Given the description of an element on the screen output the (x, y) to click on. 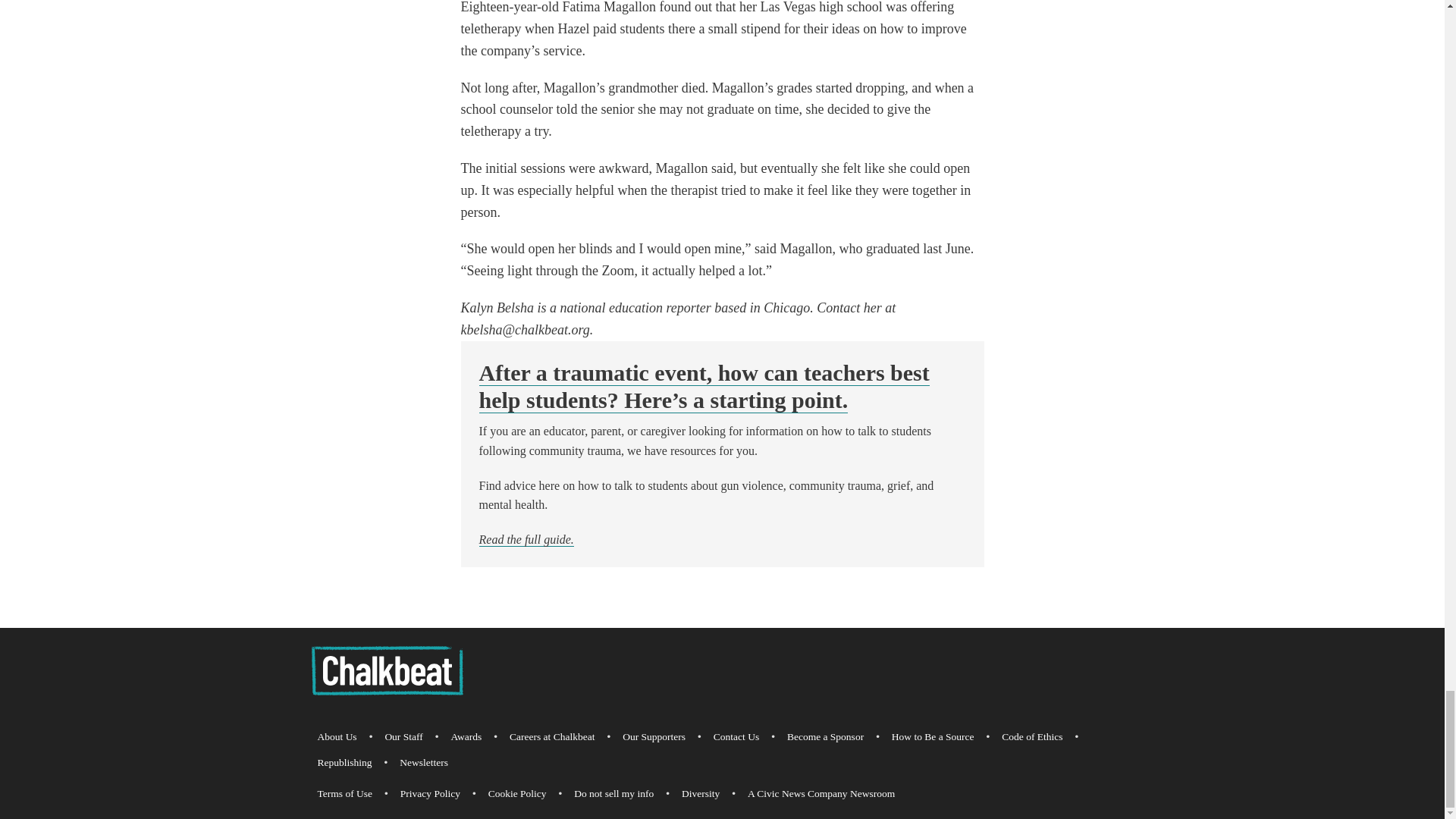
Our Supporters (653, 736)
Read the full guide. (526, 540)
Our Staff (403, 736)
Become a Sponsor (824, 736)
About Us (336, 736)
Awards (465, 736)
Code of Ethics (1031, 736)
How to Be a Source (932, 736)
Contact Us (736, 736)
Careers at Chalkbeat (551, 736)
